Given the description of an element on the screen output the (x, y) to click on. 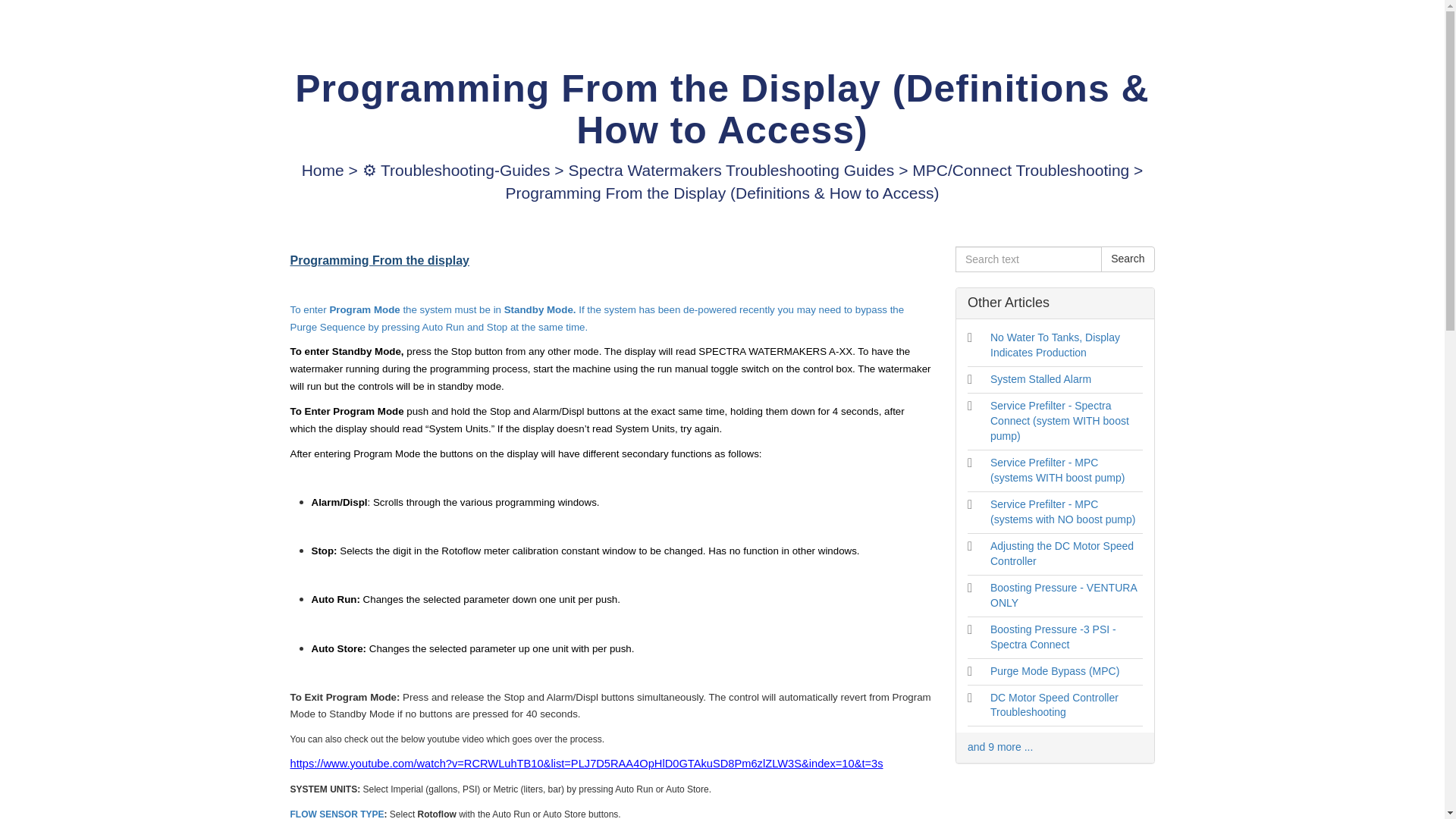
Search text (1028, 258)
Boosting Pressure -3 PSI - Spectra Connect (1053, 636)
Search (1127, 258)
No Water To Tanks, Display Indicates Production (1054, 344)
Boosting Pressure -3 PSI - Spectra Connect (1053, 636)
Boosting Pressure - VENTURA ONLY (1063, 595)
Adjusting the DC Motor Speed Controller (1062, 553)
Search (1127, 258)
Adjusting the DC Motor Speed Controller (1062, 553)
System Stalled Alarm (1040, 378)
Home (325, 170)
Search (1127, 258)
System Stalled Alarm (1040, 378)
No Water To Tanks, Display Indicates Production (1054, 344)
and 9 more ... (1000, 746)
